Given the description of an element on the screen output the (x, y) to click on. 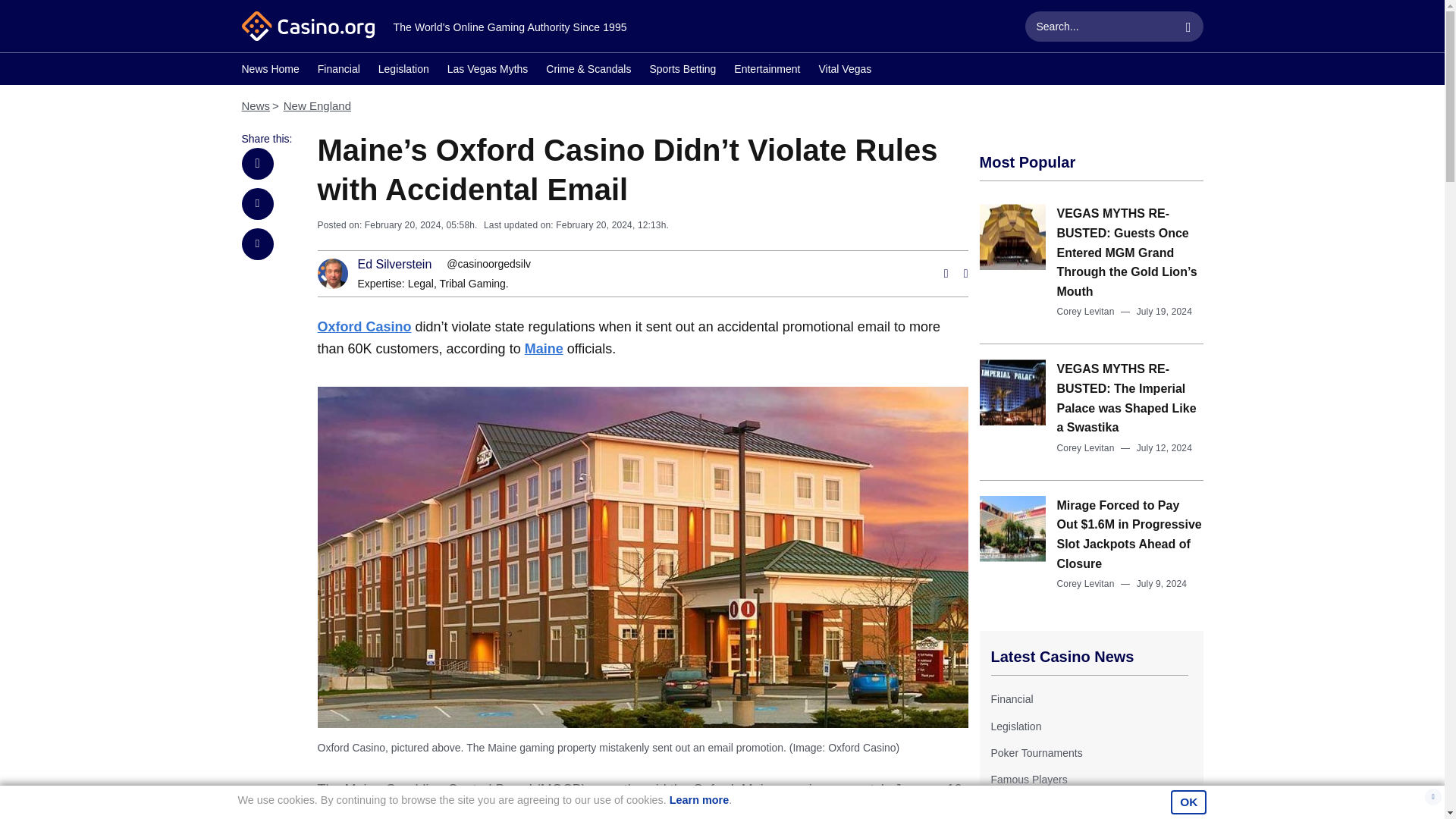
Legal (420, 283)
Sports (1005, 806)
Financial (1011, 698)
Financial (1011, 698)
News (255, 105)
New England (316, 105)
Oxford Casino (363, 326)
Vital Vegas (845, 70)
Ed Silverstein (395, 264)
Las Vegas Myths (487, 70)
Financial (338, 70)
Legislation (403, 70)
News Home (269, 70)
Legal (420, 283)
Tribal Gaming (472, 283)
